Given the description of an element on the screen output the (x, y) to click on. 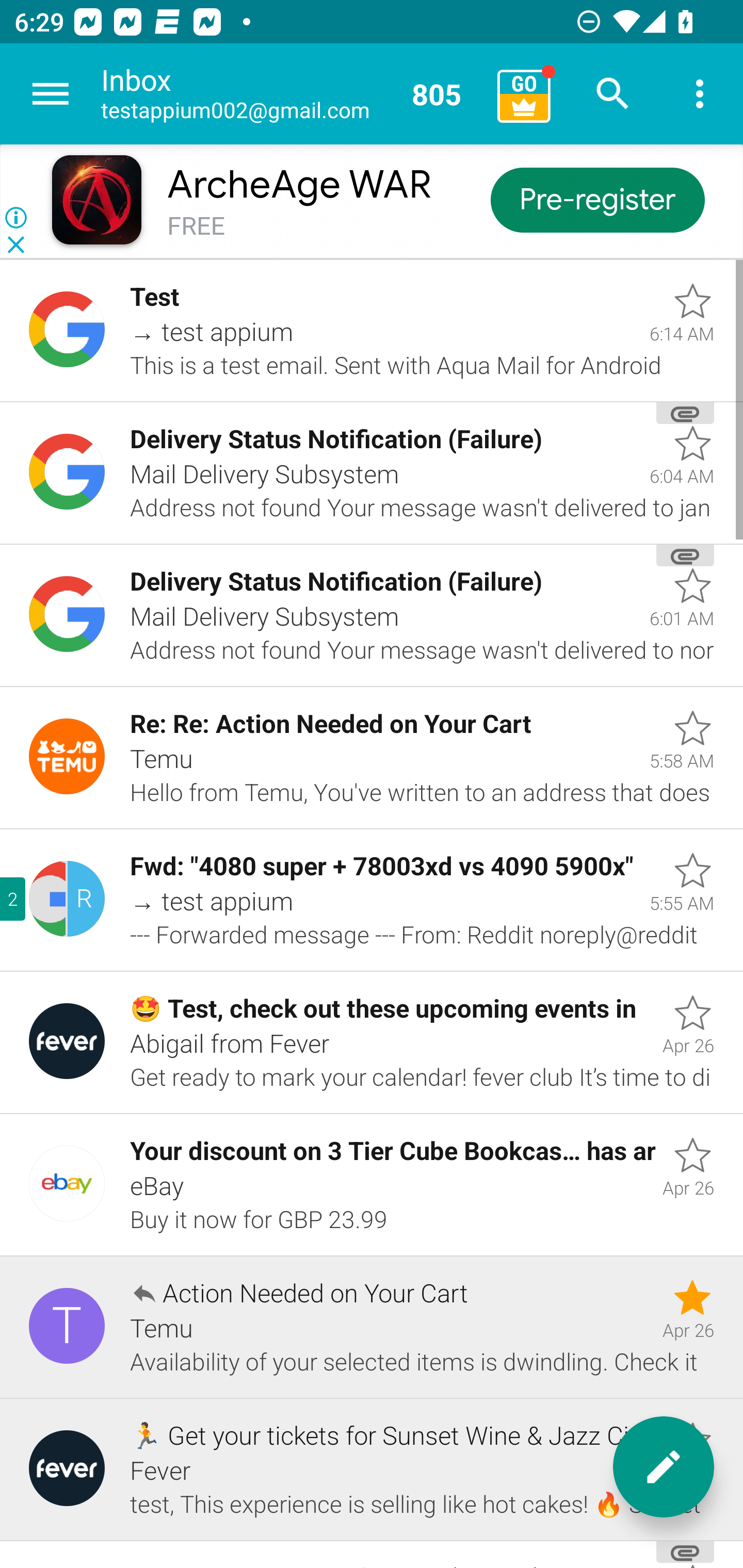
Navigate up (50, 93)
Inbox testappium002@gmail.com 805 (291, 93)
Search (612, 93)
More options (699, 93)
New message (663, 1466)
